Given the description of an element on the screen output the (x, y) to click on. 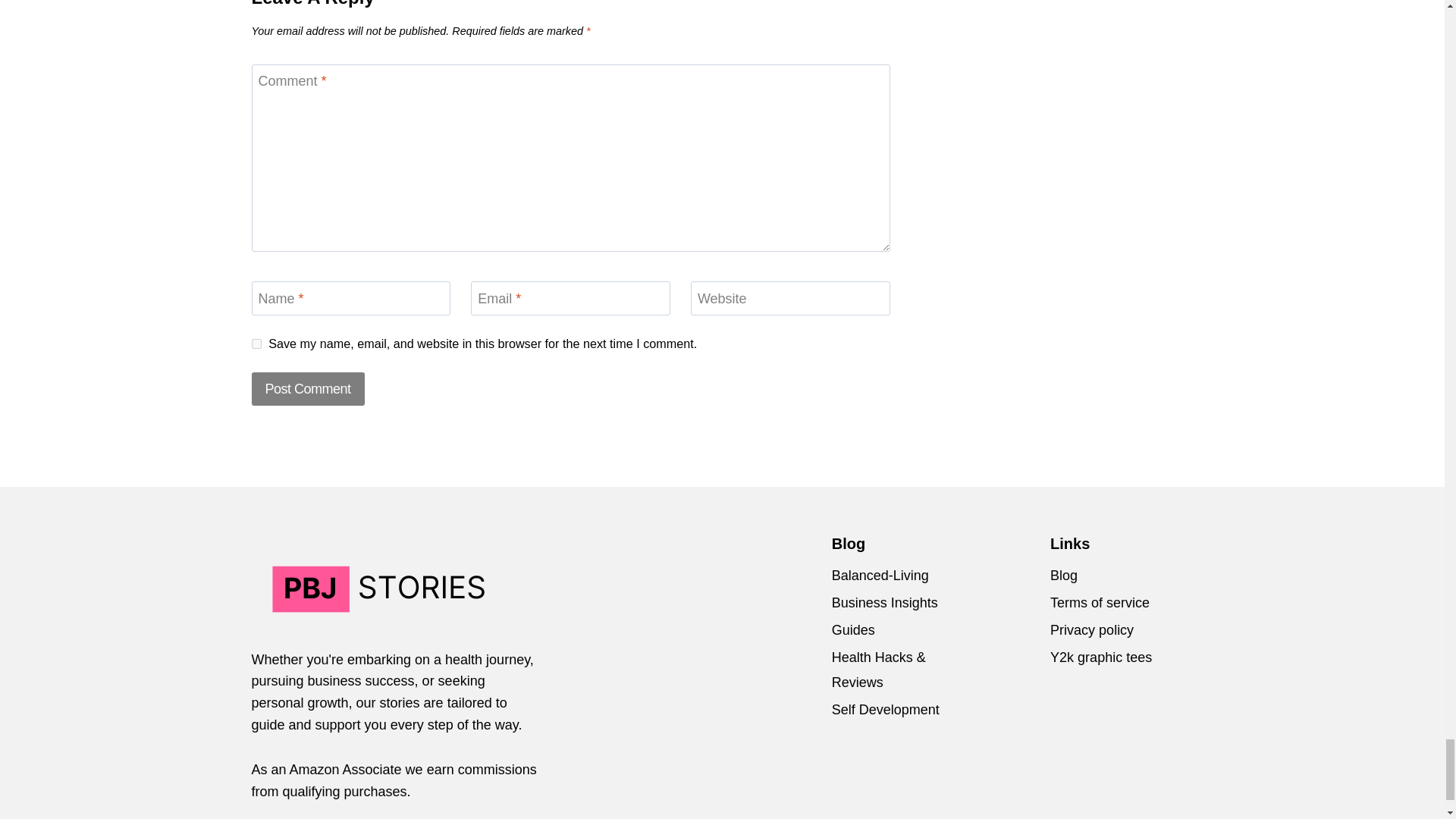
yes (256, 343)
Post Comment (308, 388)
